Given the description of an element on the screen output the (x, y) to click on. 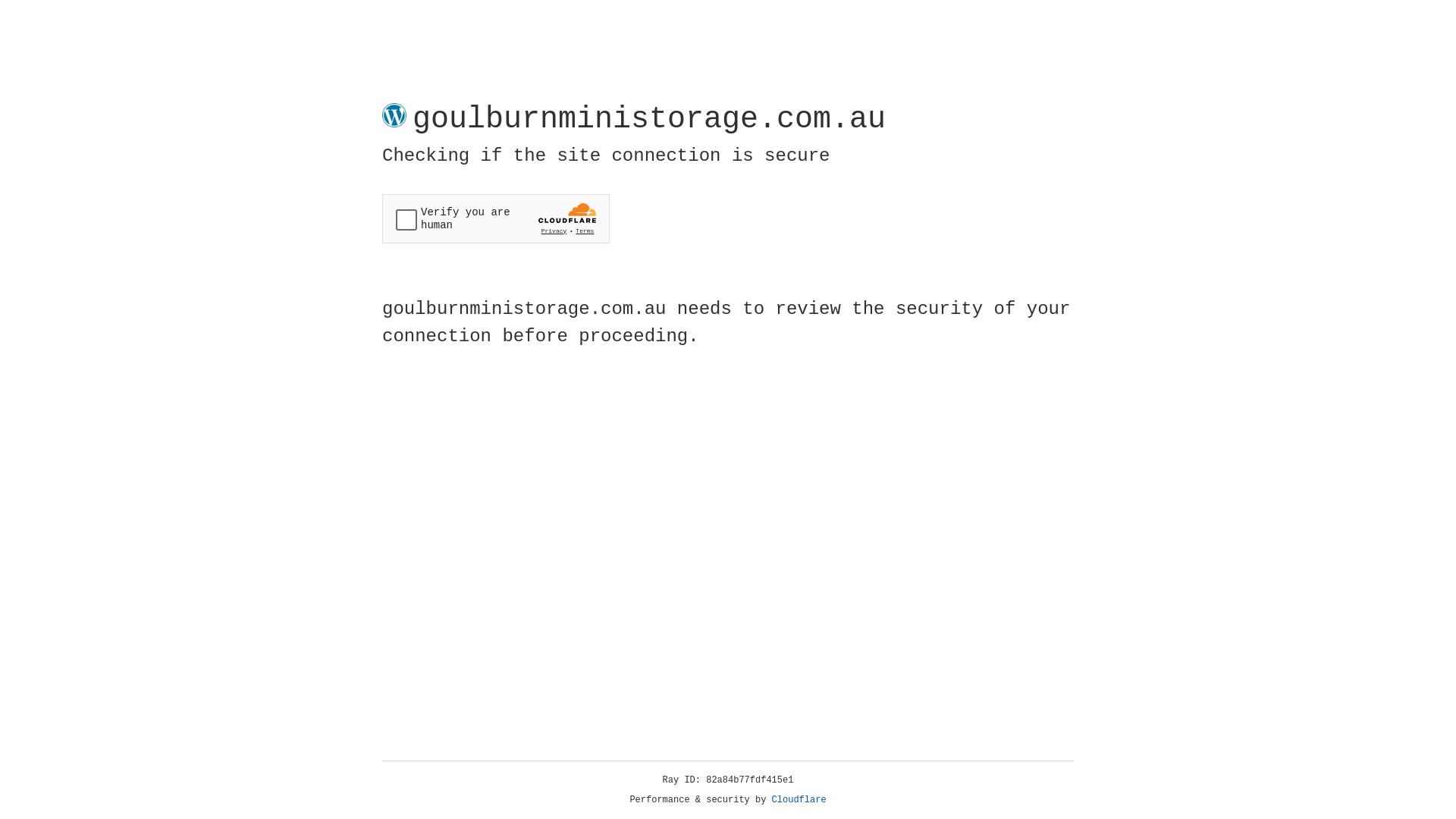
Widget containing a Cloudflare security challenge Element type: hover (495, 218)
Cloudflare Element type: text (798, 799)
